Given the description of an element on the screen output the (x, y) to click on. 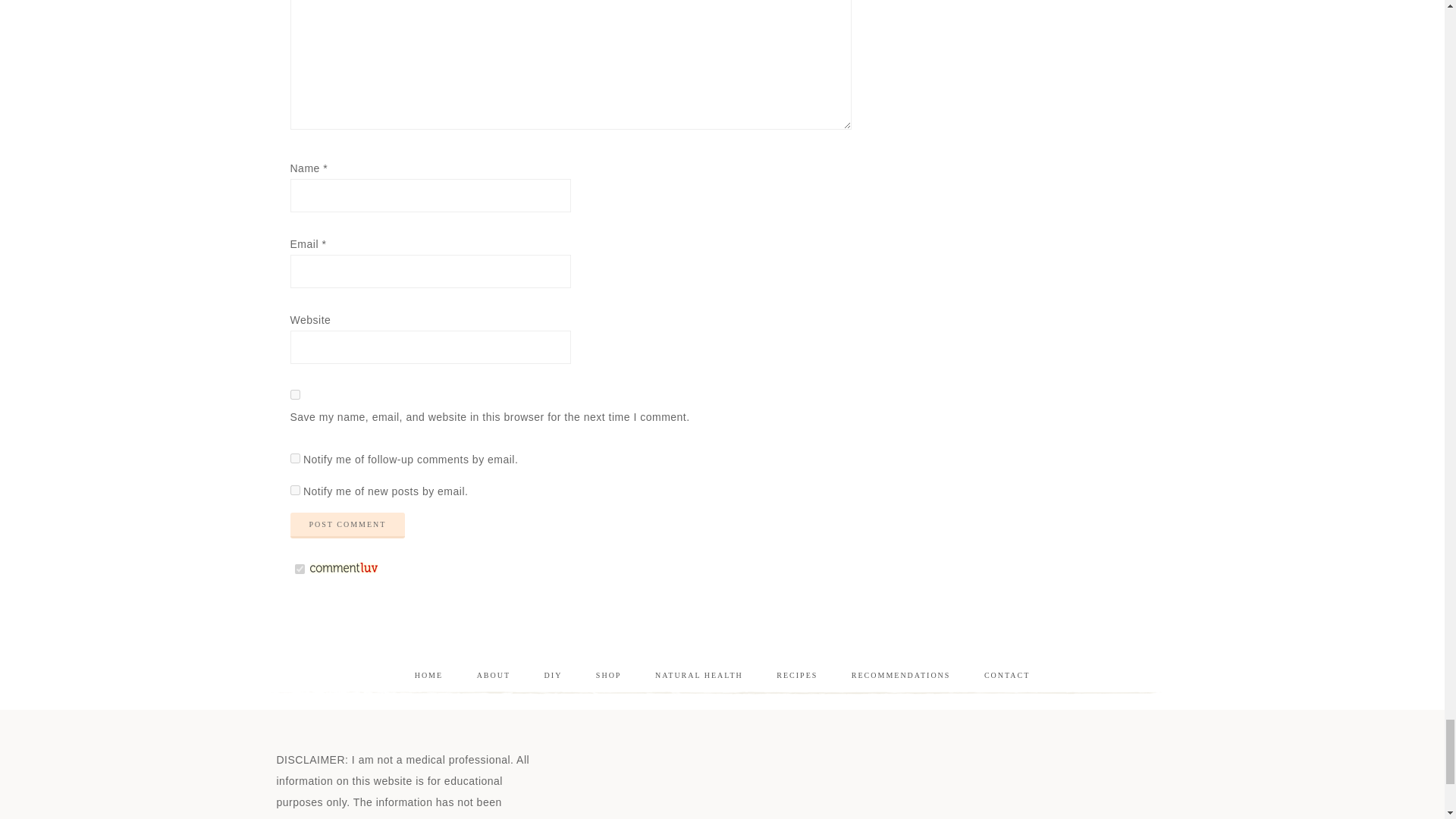
yes (294, 394)
Post Comment (346, 525)
subscribe (294, 490)
on (298, 569)
subscribe (294, 458)
CommentLuv is enabled (343, 570)
